Given the description of an element on the screen output the (x, y) to click on. 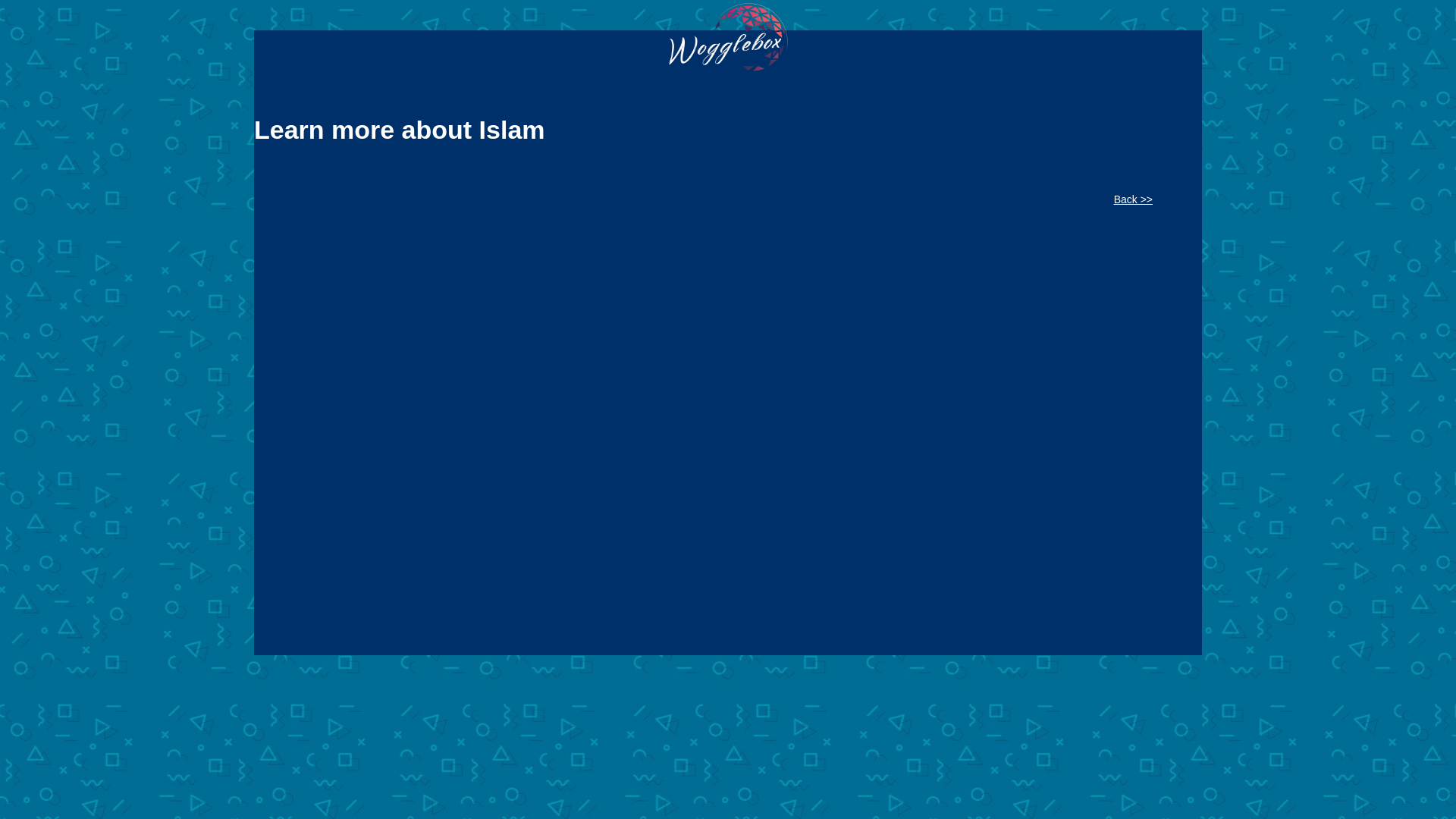
Back >> Element type: text (1138, 199)
Askthesheikh part2 Element type: hover (709, 399)
